Given the description of an element on the screen output the (x, y) to click on. 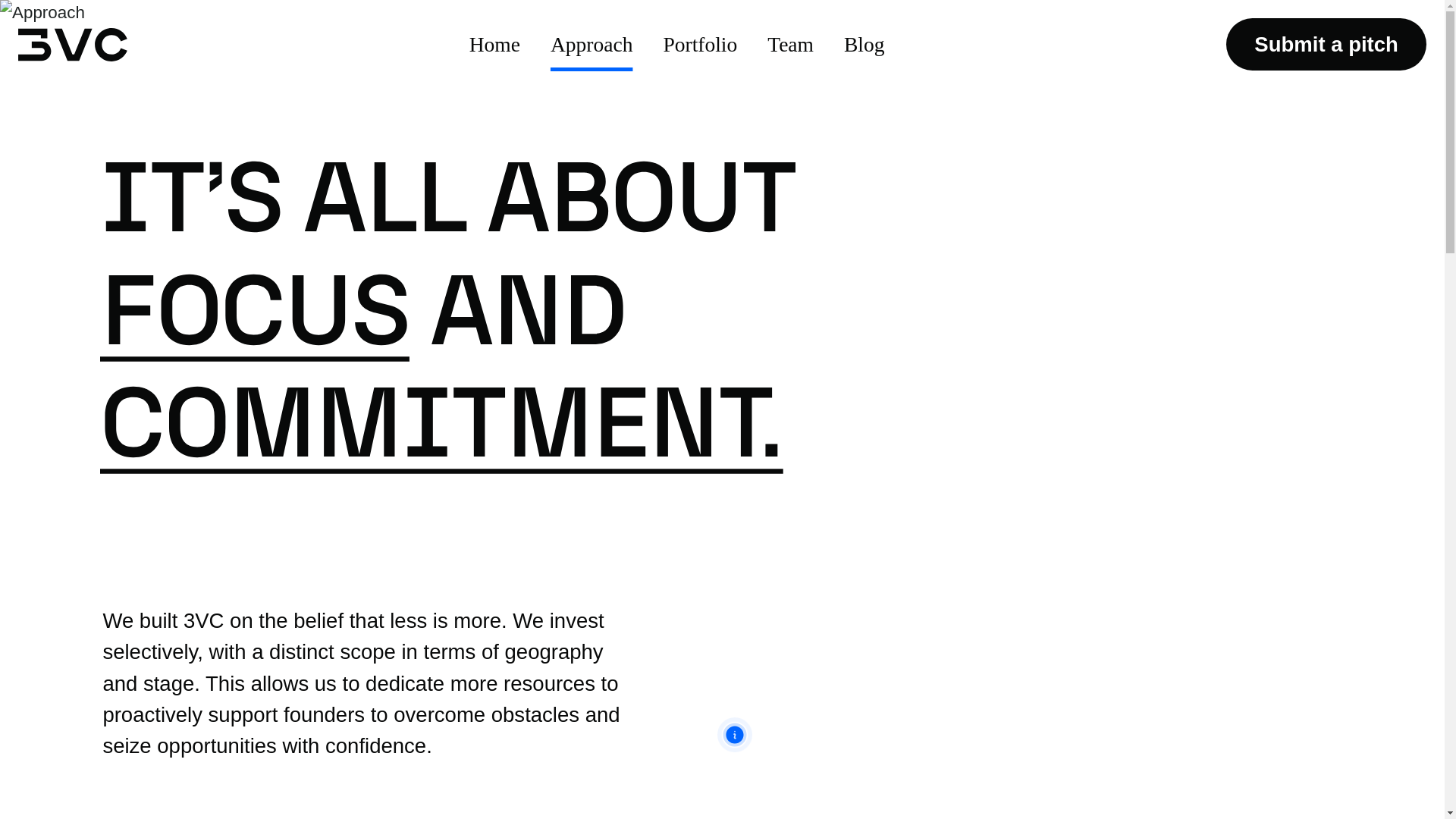
Approach (591, 43)
Blog (864, 43)
Portfolio (699, 43)
Submit a pitch (1325, 44)
Home (493, 43)
Team (790, 43)
3VC (72, 44)
